Given the description of an element on the screen output the (x, y) to click on. 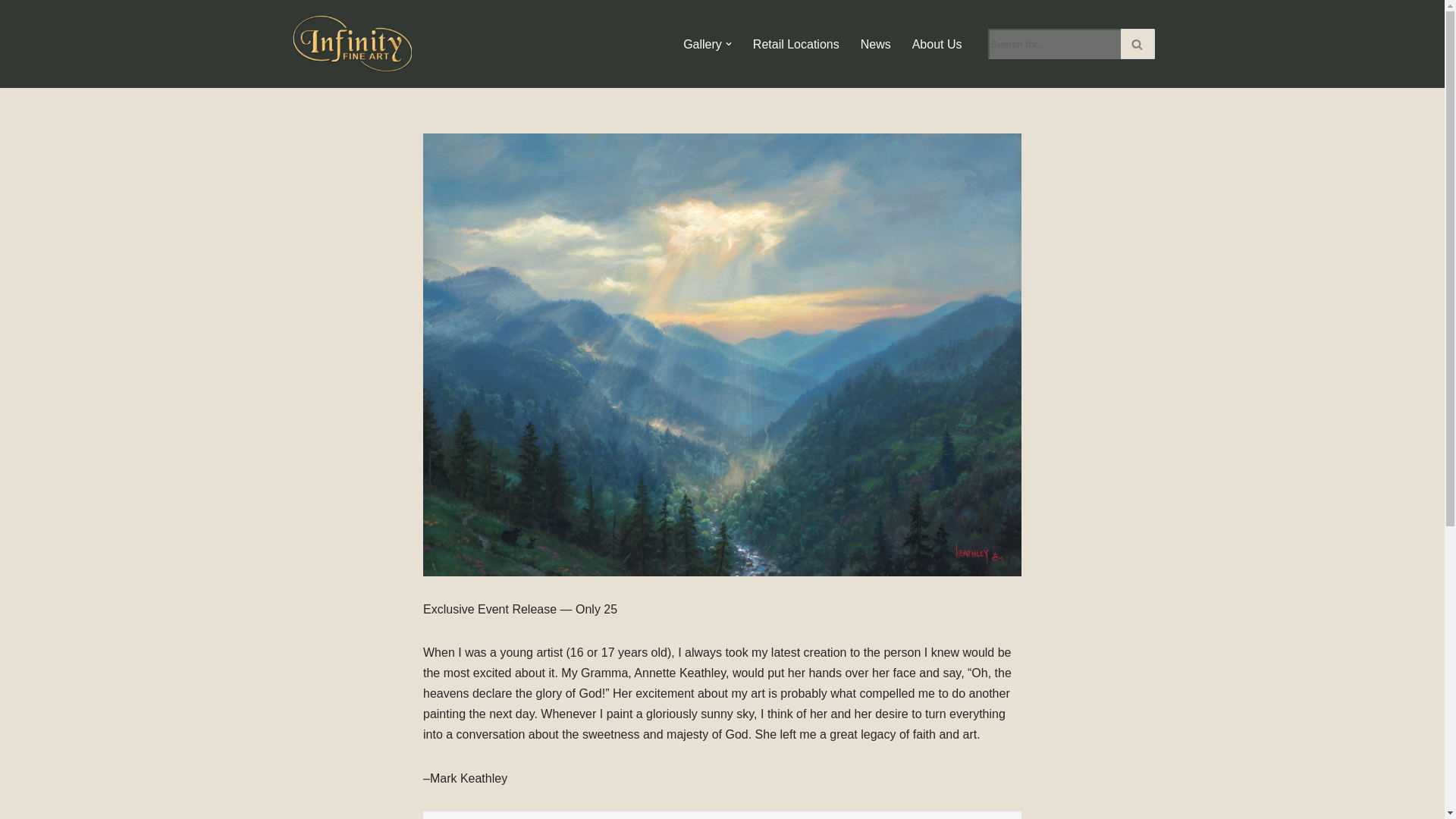
Retail Locations (796, 44)
Skip to content (11, 31)
News (875, 44)
About Us (937, 44)
Gallery (702, 44)
